Given the description of an element on the screen output the (x, y) to click on. 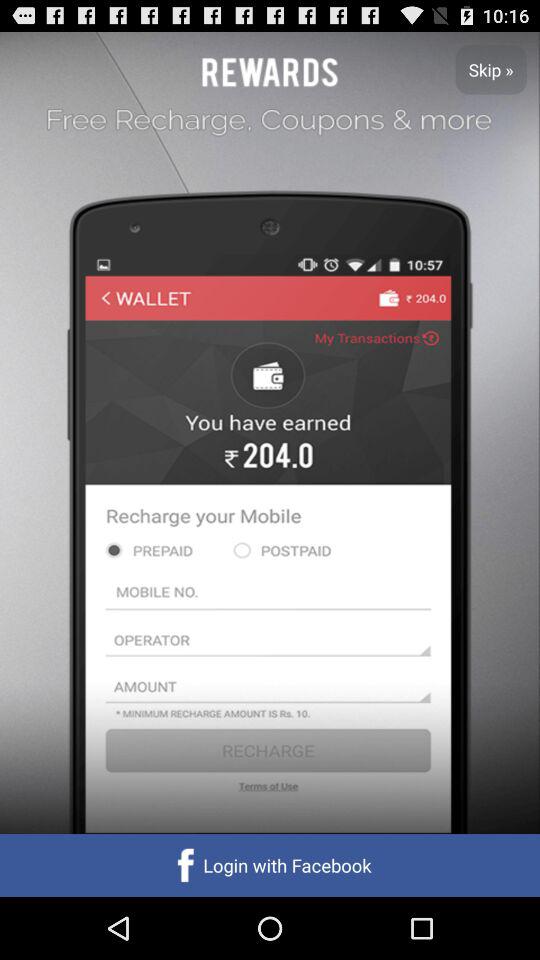
choose the app at the top right corner (490, 69)
